Given the description of an element on the screen output the (x, y) to click on. 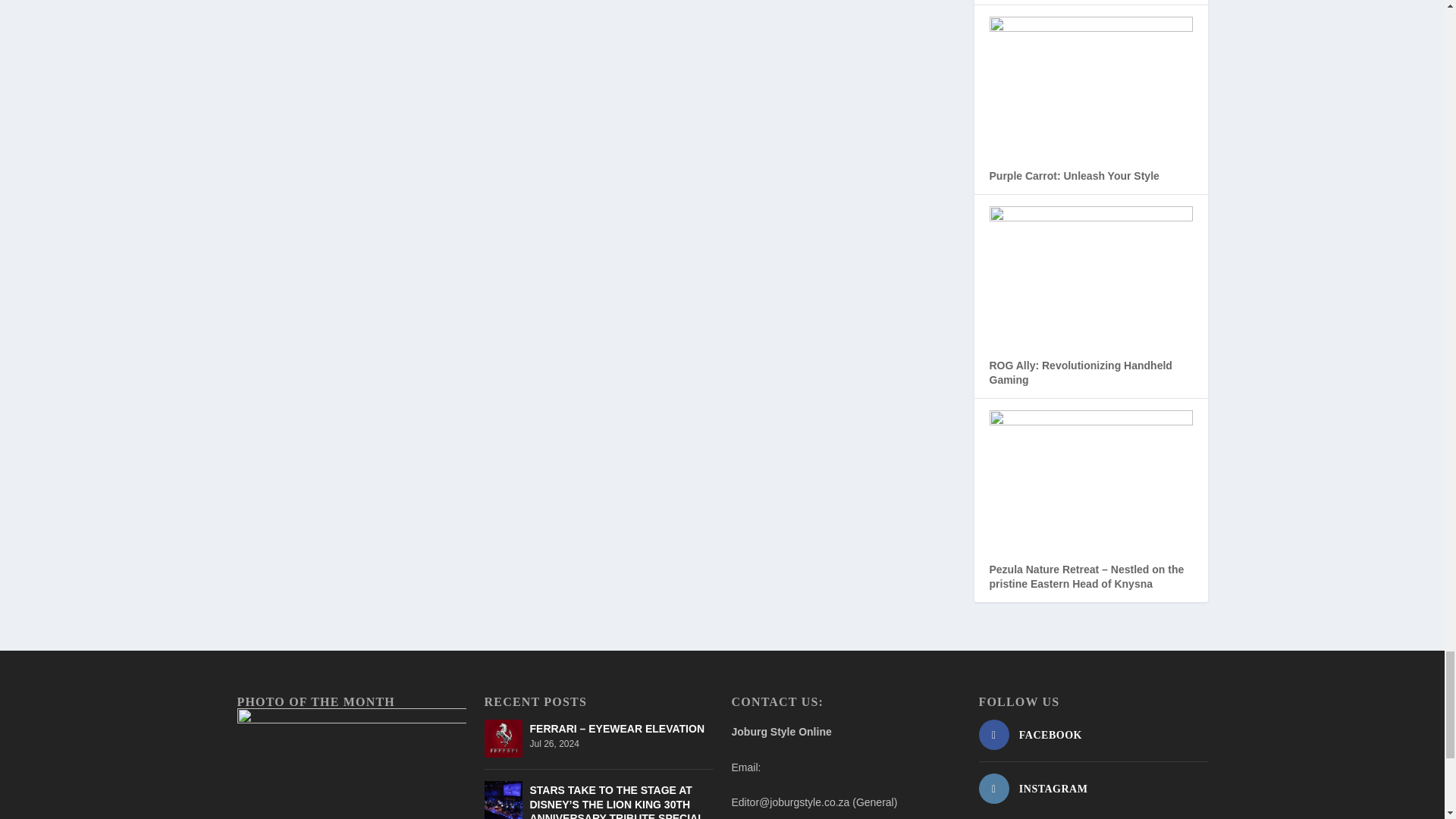
Photo of the Week (350, 763)
